Given the description of an element on the screen output the (x, y) to click on. 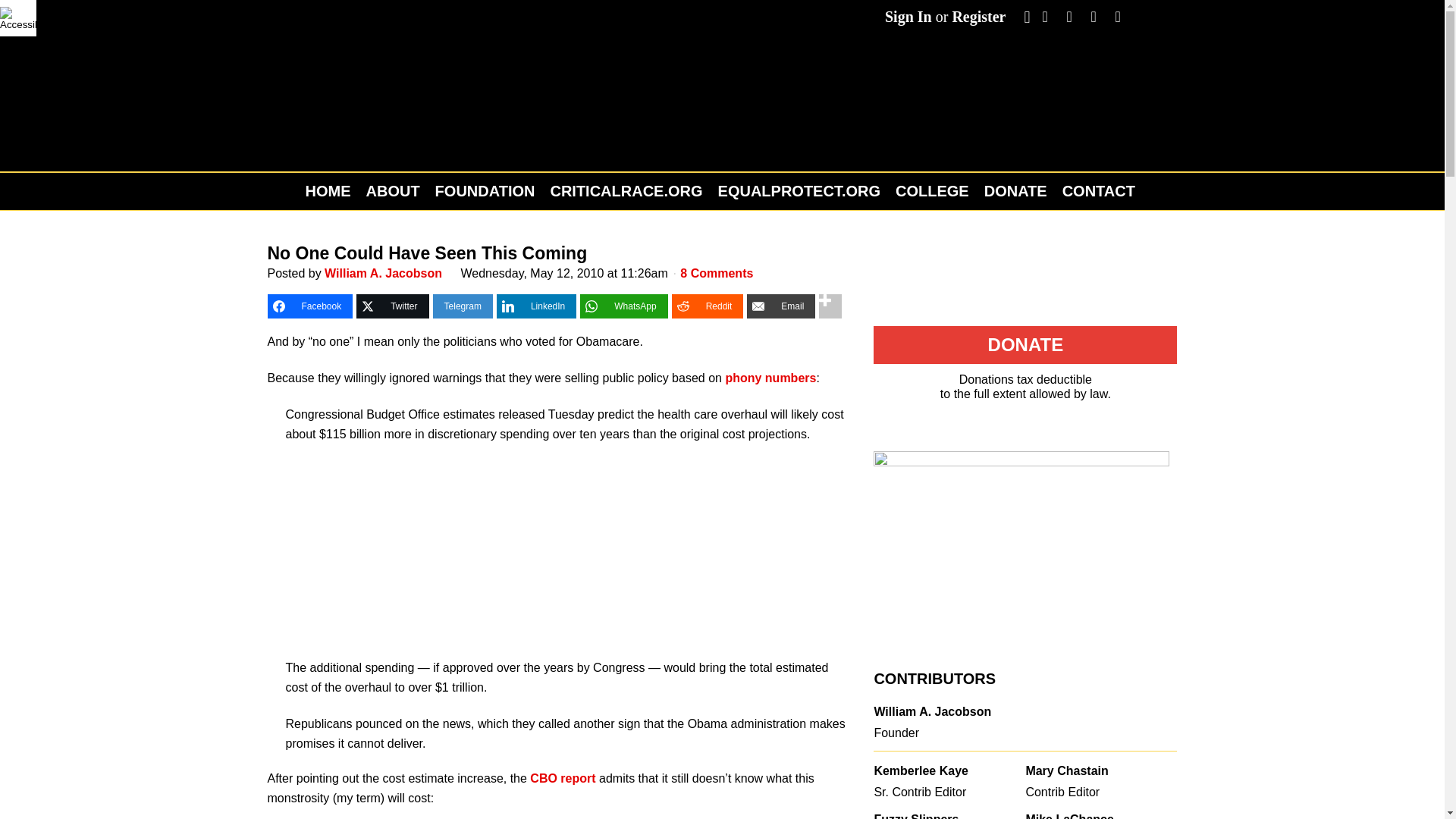
Email (780, 306)
William A. Jacobson (383, 273)
Sign In (908, 16)
LinkedIn (536, 306)
COLLEGE (932, 190)
Share on More (829, 306)
Share on Twitter (392, 306)
EQUALPROTECT.ORG (799, 190)
Share on Telegram (462, 306)
Register (979, 16)
Twitter (392, 306)
FOUNDATION (485, 190)
CRITICALRACE.ORG (625, 190)
HOME (331, 190)
Share on Reddit (707, 306)
